Given the description of an element on the screen output the (x, y) to click on. 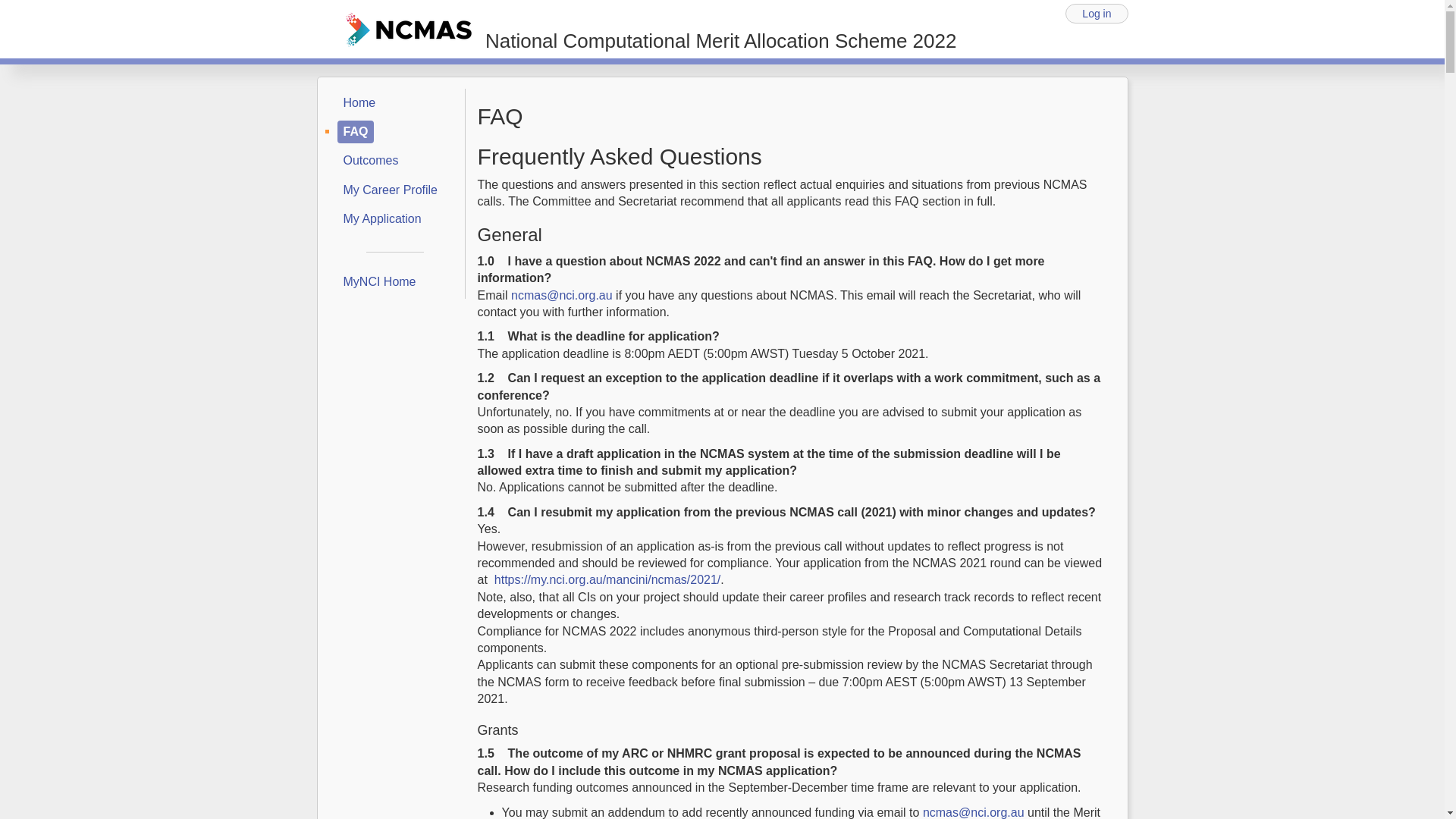
MyNCI Home Element type: text (378, 281)
ncmas@nci.org.au Element type: text (561, 294)
My Application Element type: text (381, 218)
https://my.nci.org.au/mancini/ncmas/2021/ Element type: text (607, 579)
FAQ Element type: text (354, 131)
Outcomes Element type: text (370, 160)
ncmas@nci.org.au Element type: text (973, 811)
NCMAS Home Element type: hover (410, 27)
Log in Element type: text (1096, 13)
Home Element type: text (358, 102)
My Career Profile Element type: text (389, 189)
